Given the description of an element on the screen output the (x, y) to click on. 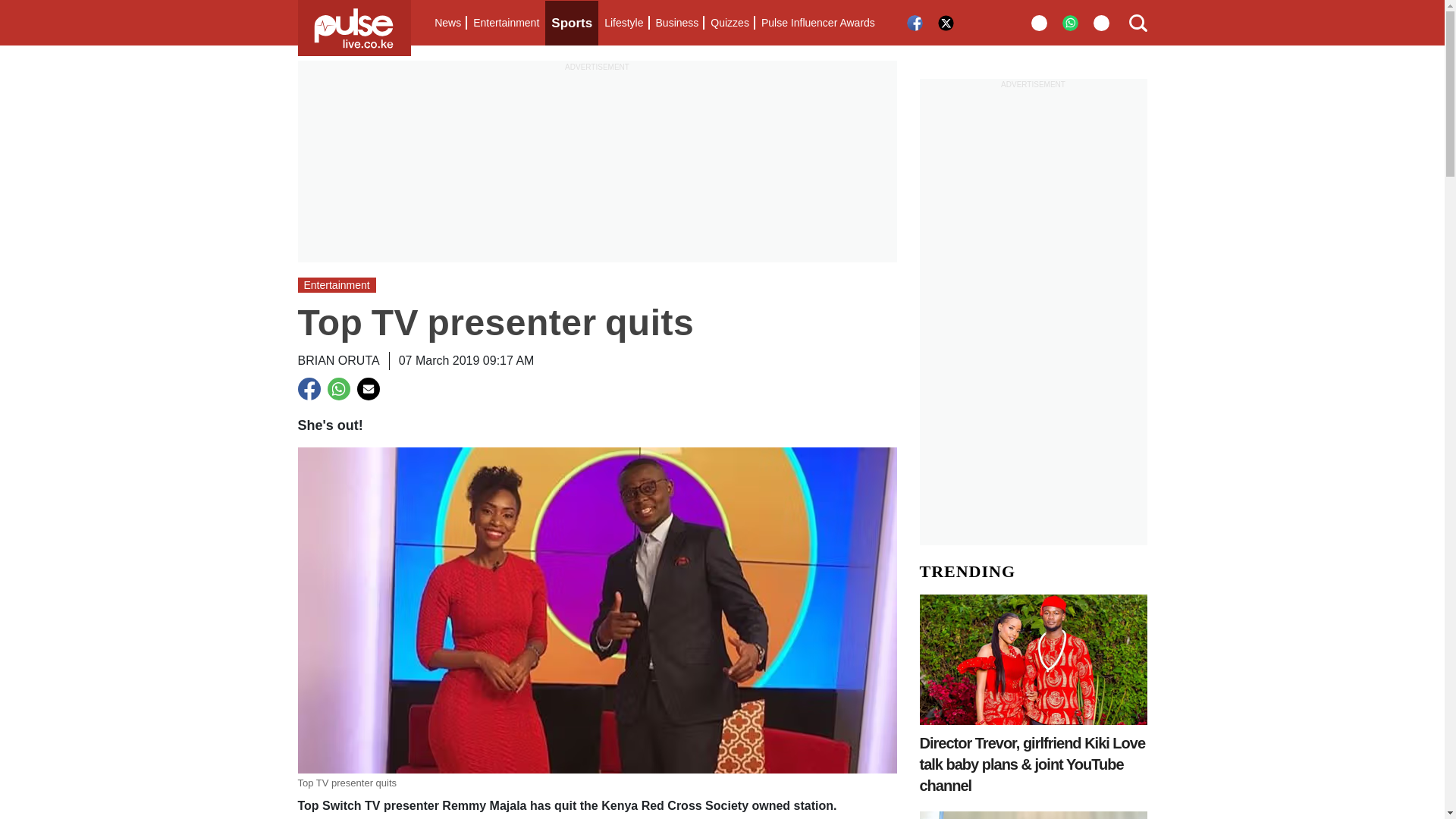
Quizzes (729, 22)
Entertainment (505, 22)
Business (676, 22)
Sports (571, 22)
Pulse Influencer Awards (817, 22)
Lifestyle (623, 22)
